Given the description of an element on the screen output the (x, y) to click on. 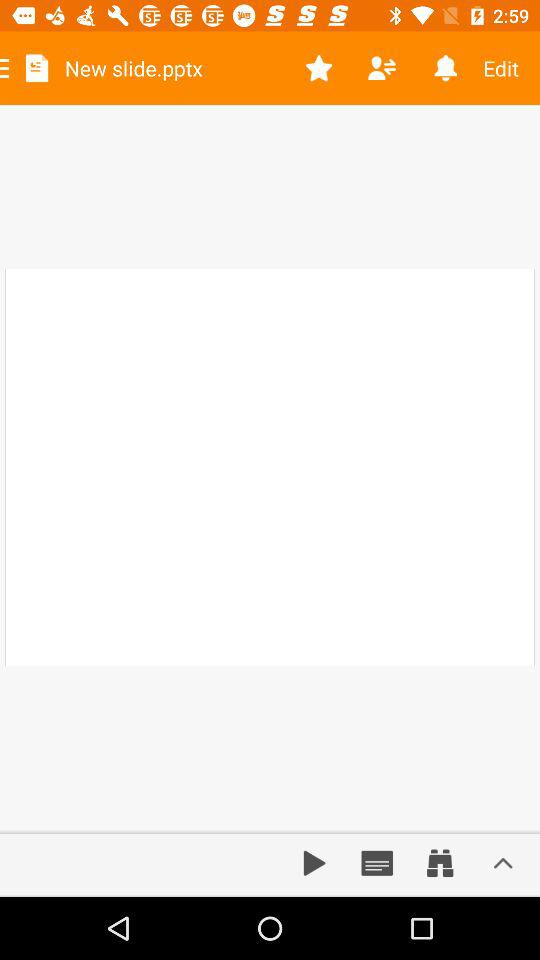
play presentation (314, 863)
